Given the description of an element on the screen output the (x, y) to click on. 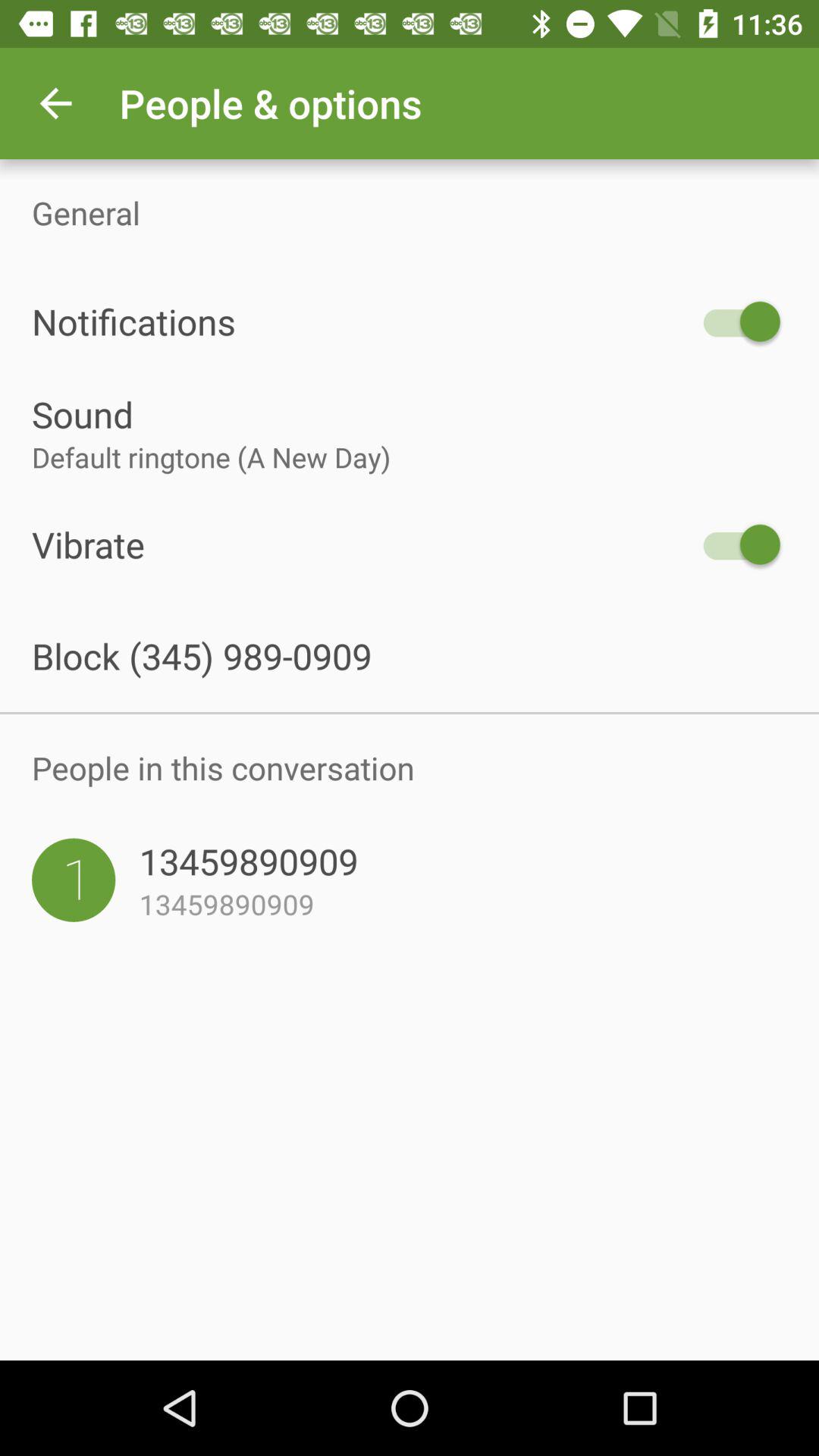
tap item above the sound (361, 321)
